Given the description of an element on the screen output the (x, y) to click on. 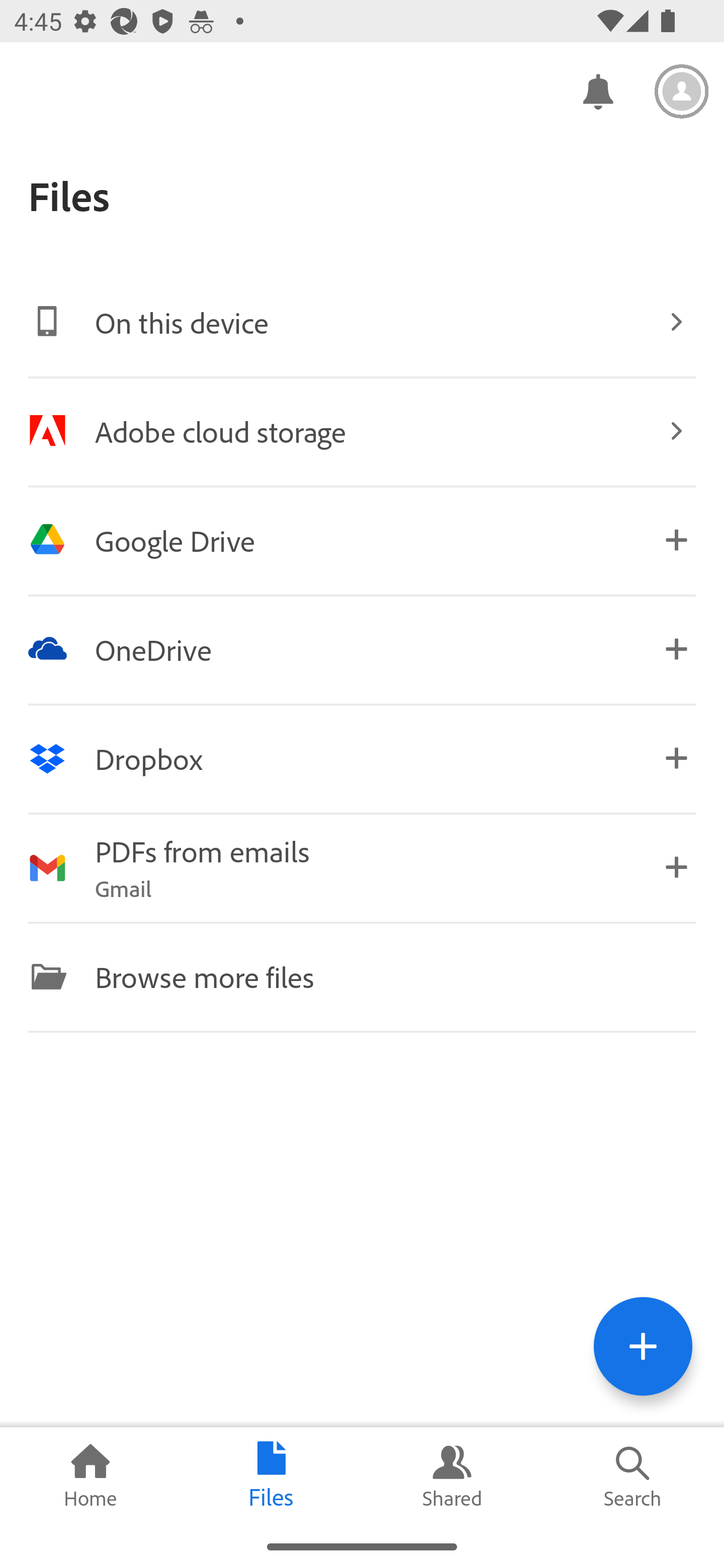
Notifications (597, 90)
Settings (681, 91)
Image On this device (362, 322)
Image Adobe cloud storage (362, 431)
Image Google Drive (362, 540)
Image OneDrive (362, 649)
Image Dropbox (362, 758)
Image PDFs from emails Gmail (362, 866)
Image Browse more files (362, 975)
Tools (642, 1345)
Home (90, 1475)
Files (271, 1475)
Shared (452, 1475)
Search (633, 1475)
